Given the description of an element on the screen output the (x, y) to click on. 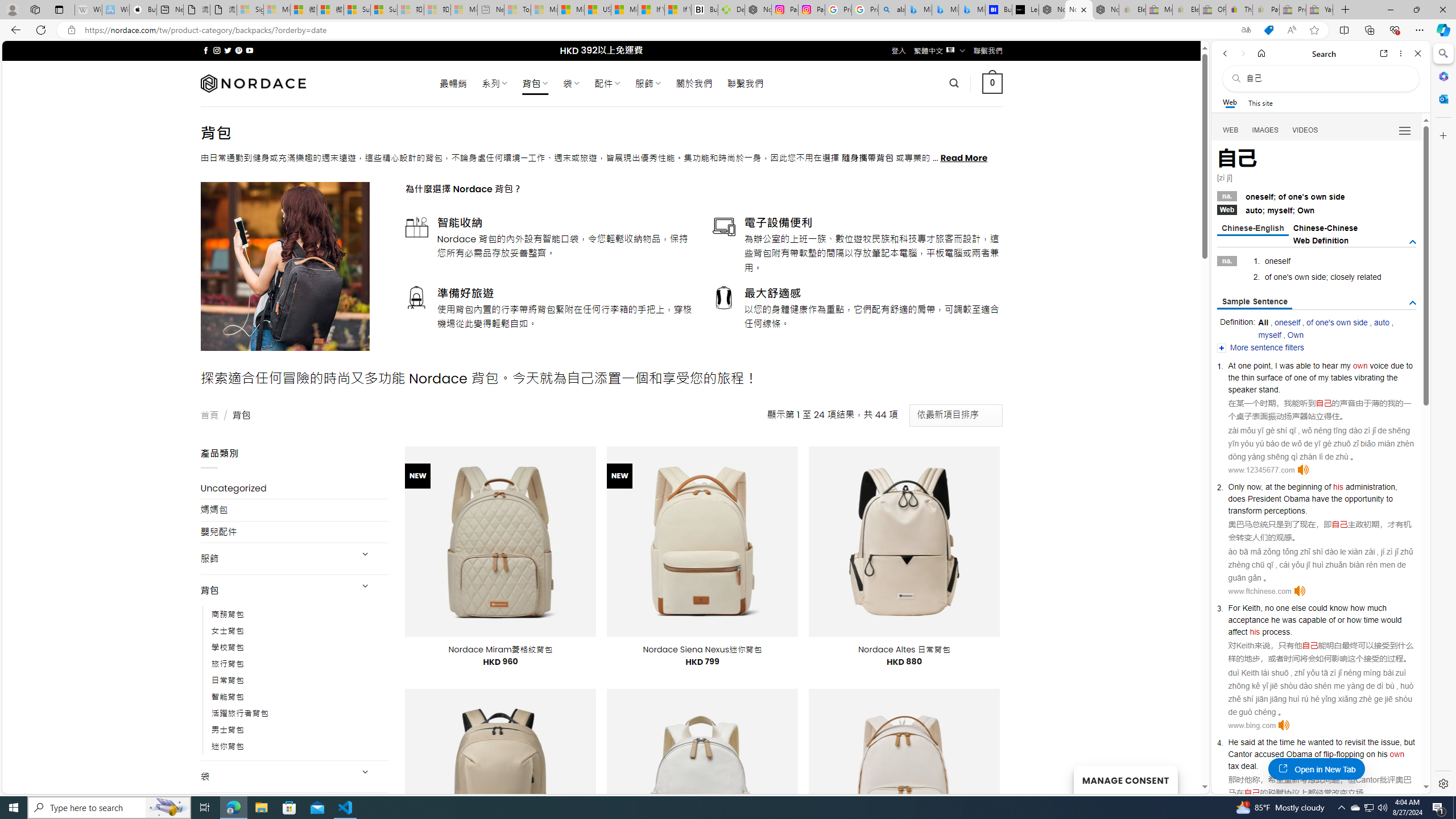
Follow on Facebook (205, 50)
his (1254, 631)
Obama (1299, 753)
Payments Terms of Use | eBay.com - Sleeping (1265, 9)
